Given the description of an element on the screen output the (x, y) to click on. 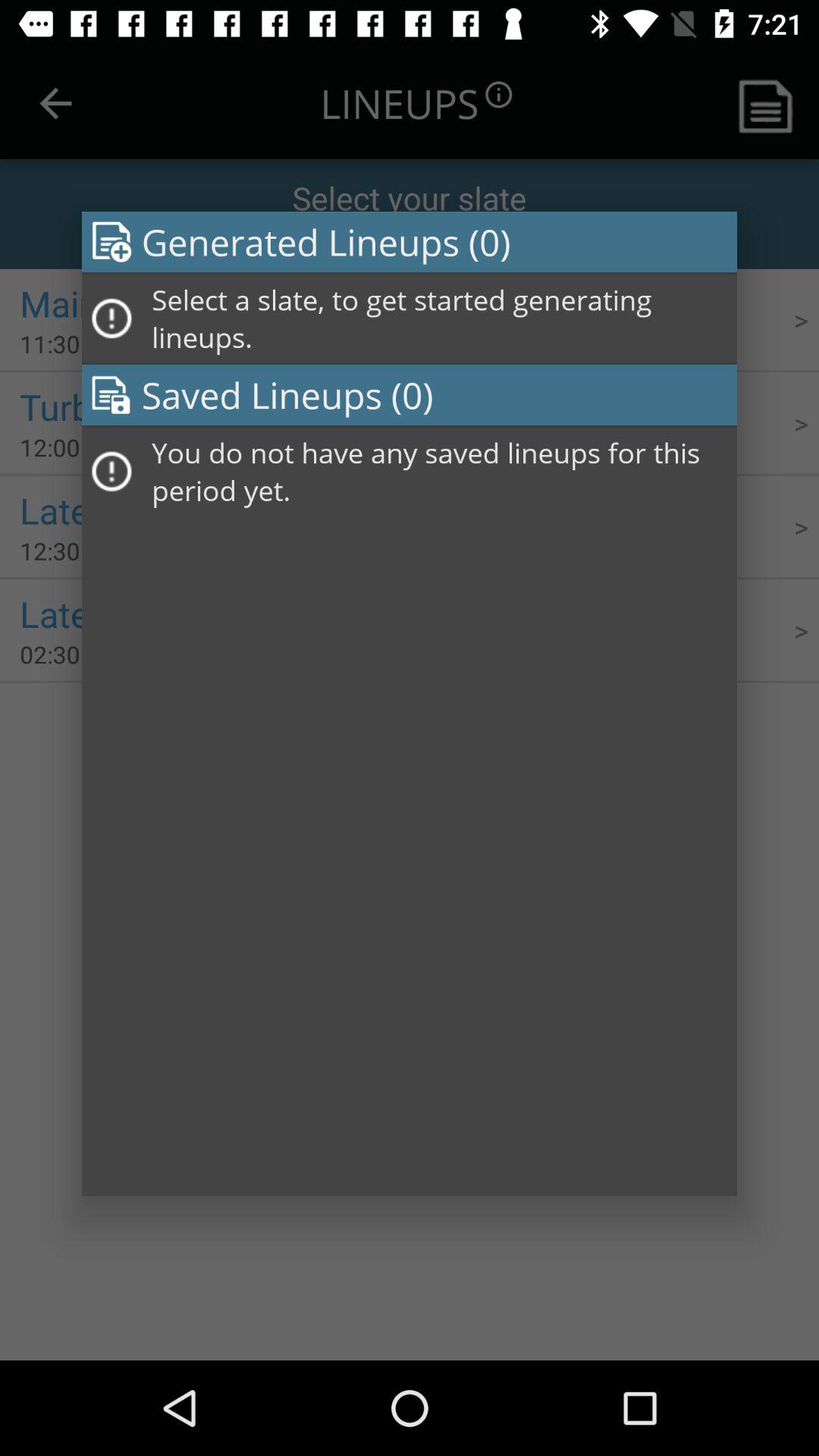
open the icon below saved lineups (0) item (438, 471)
